Given the description of an element on the screen output the (x, y) to click on. 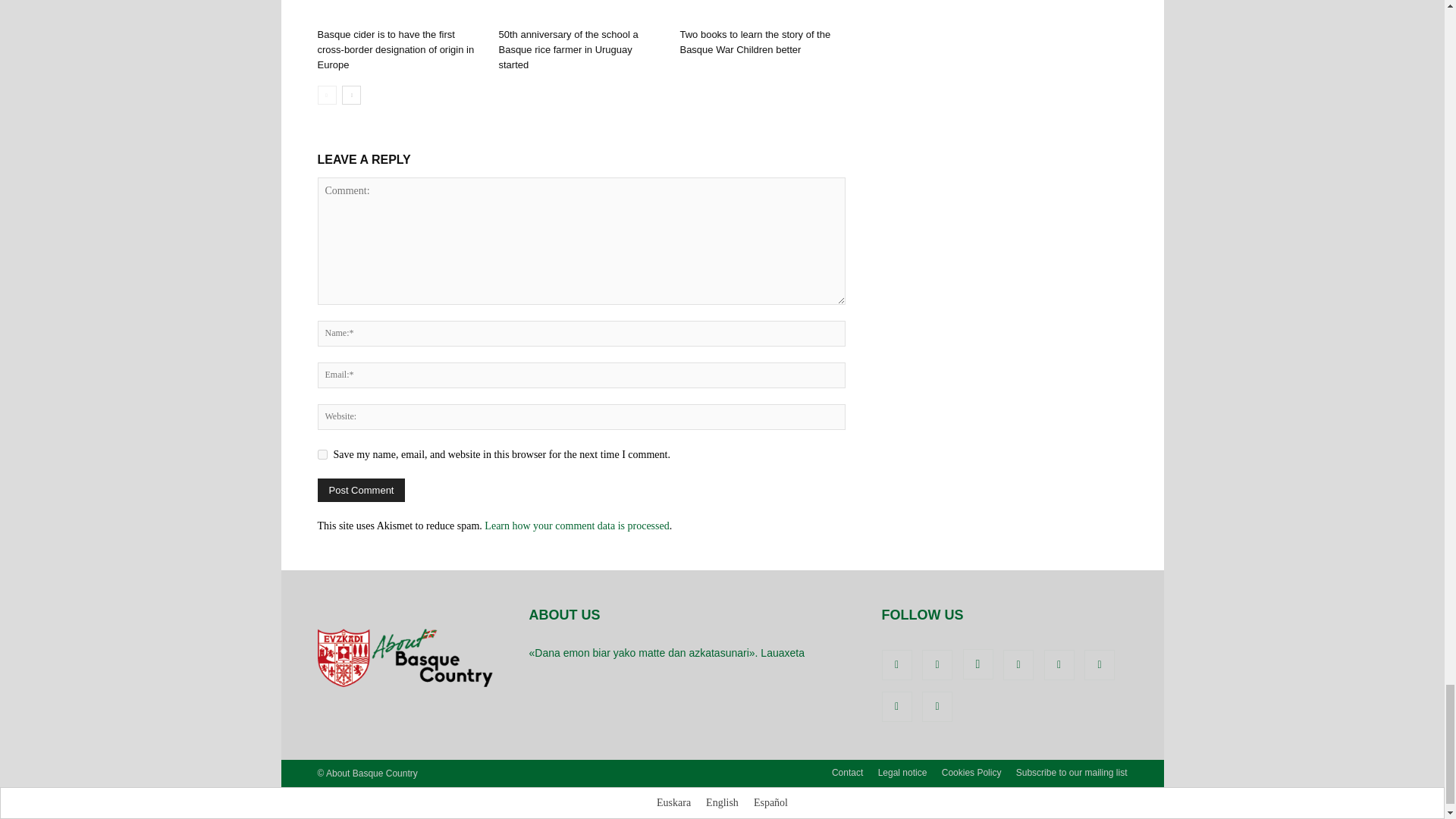
yes (321, 454)
Post Comment (360, 490)
